Given the description of an element on the screen output the (x, y) to click on. 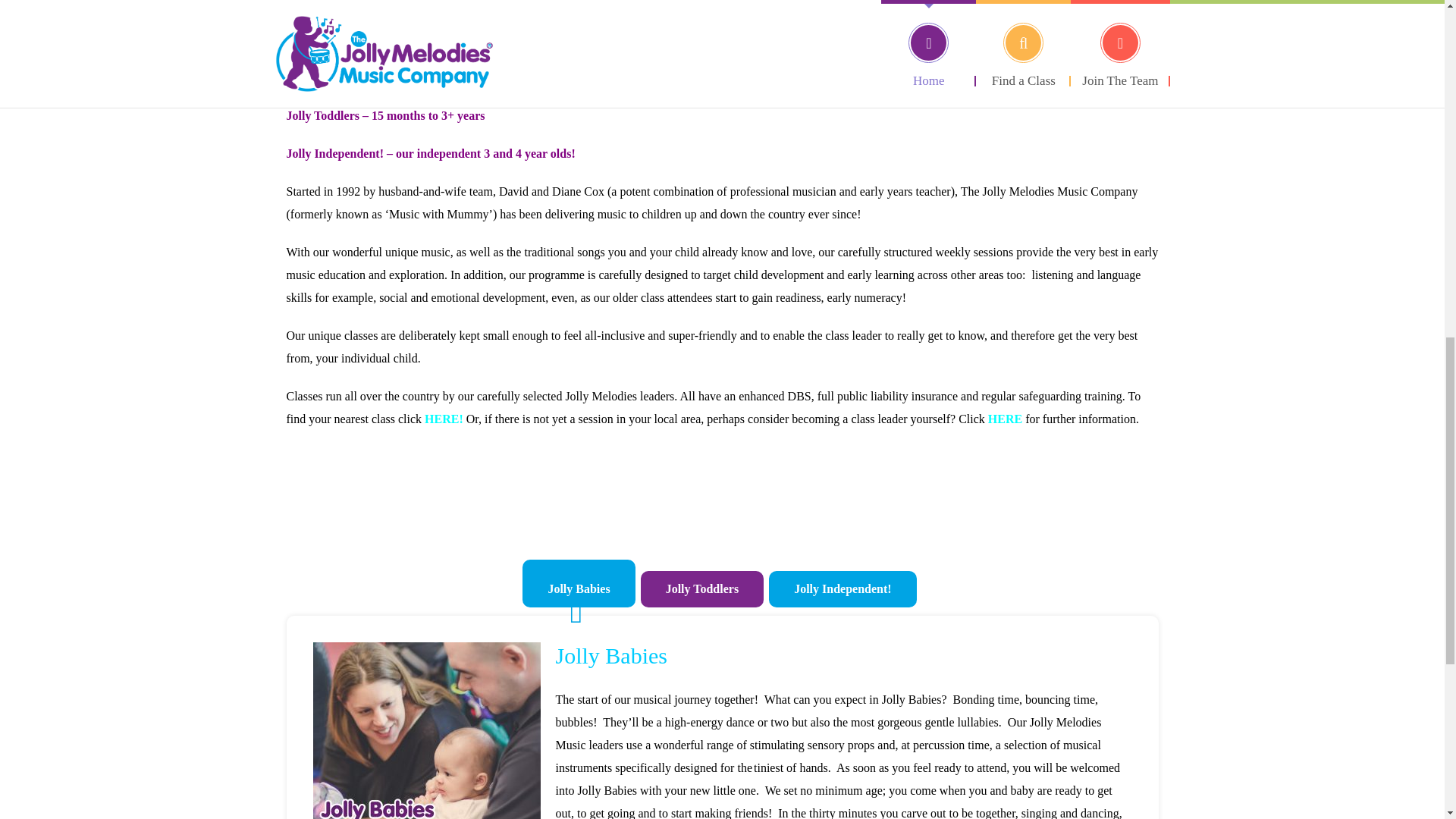
HERE  (1006, 418)
Jolly Babies (578, 583)
HERE (441, 418)
Jolly Independent! (841, 588)
Jolly Toddlers (701, 588)
